Given the description of an element on the screen output the (x, y) to click on. 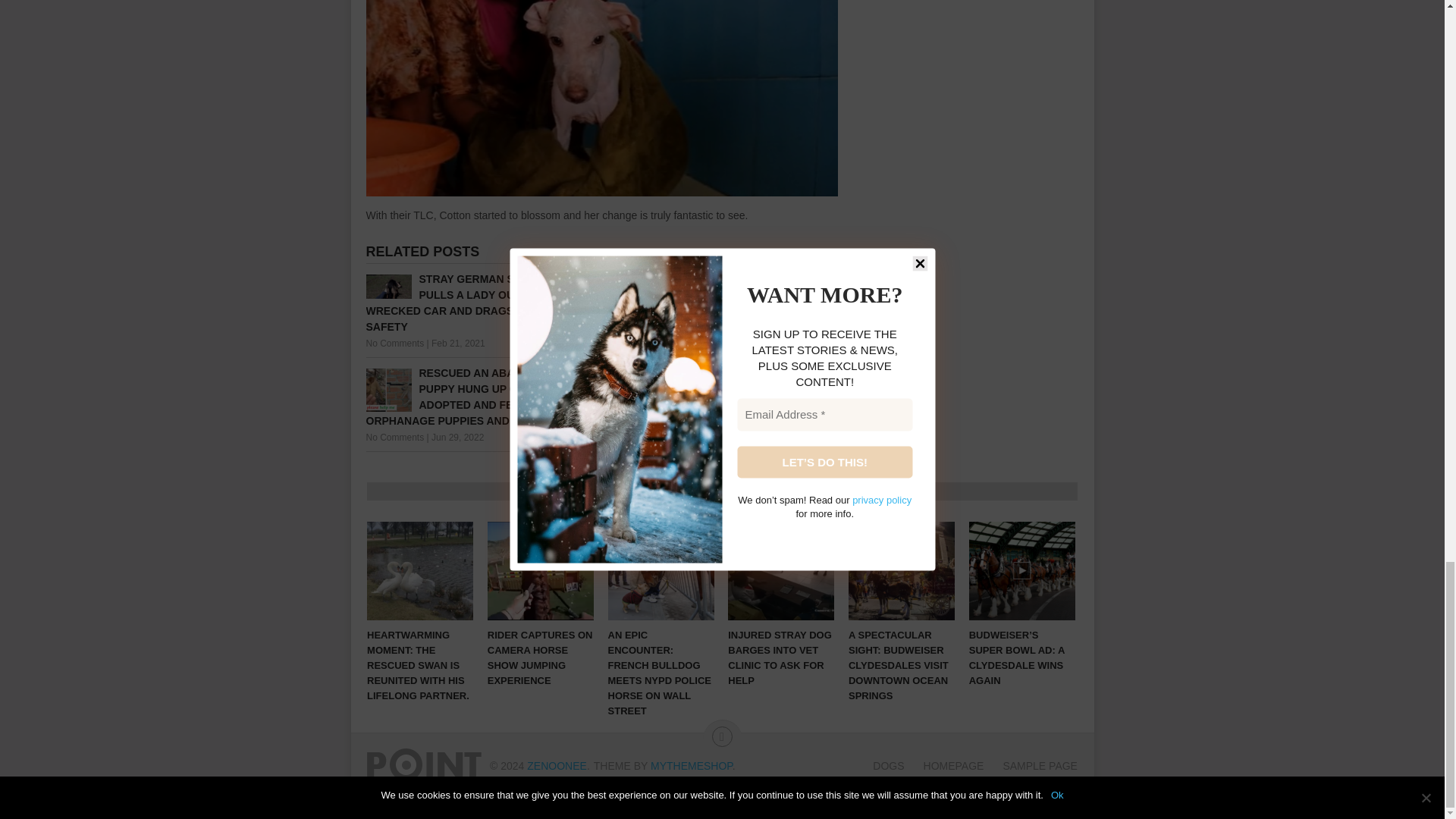
No Comments (394, 343)
No Comments (394, 437)
No Comments (637, 327)
No Comments (637, 421)
RIDER CAPTURES ON CAMERA HORSE SHOW JUMPING EXPERIENCE (540, 570)
INJURED STRAY DOG BARGES INTO VET CLINIC TO ASK FOR HELP (781, 570)
